Given the description of an element on the screen output the (x, y) to click on. 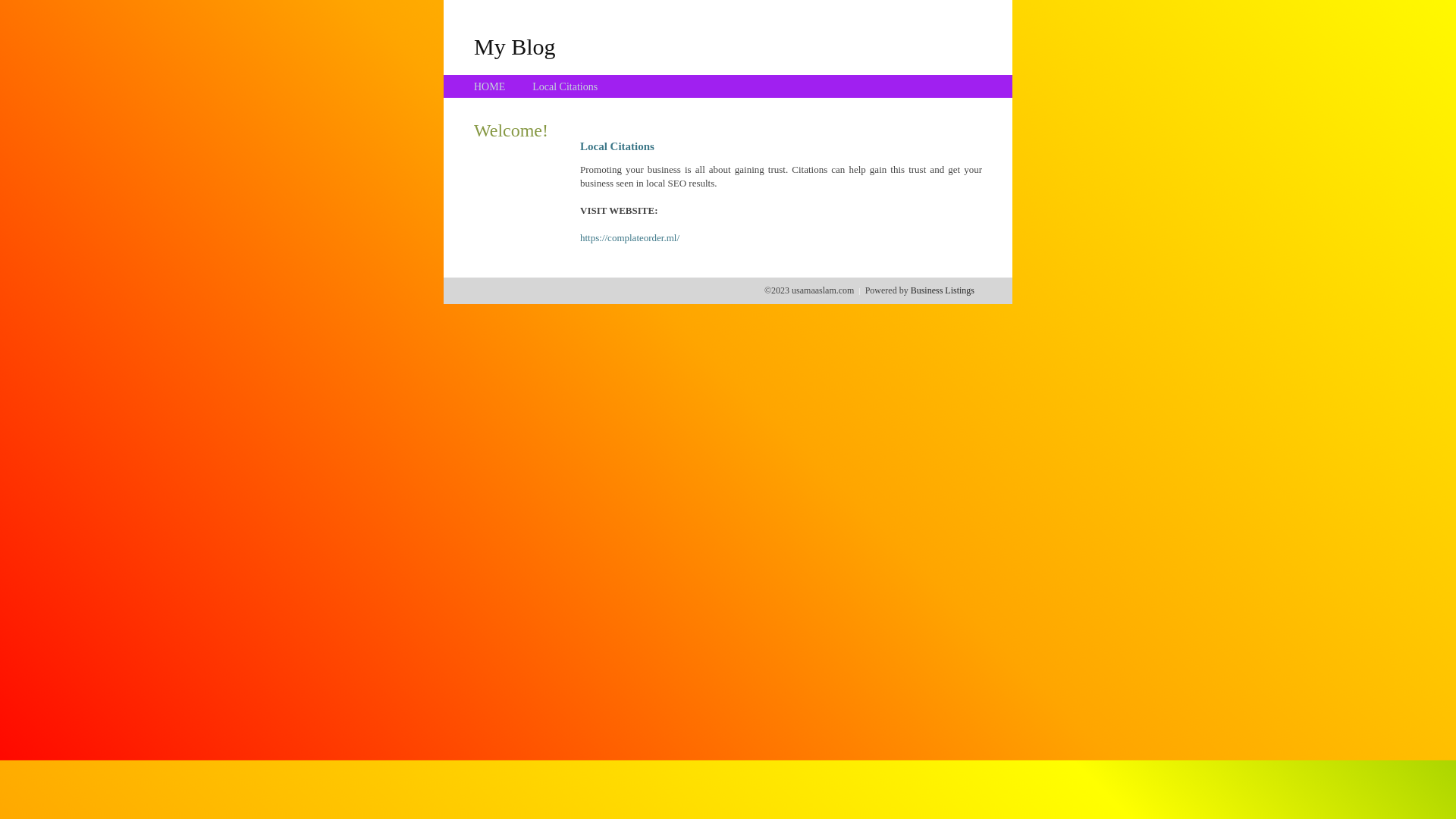
https://complateorder.ml/ Element type: text (629, 237)
HOME Element type: text (489, 86)
My Blog Element type: text (514, 46)
Business Listings Element type: text (942, 290)
Local Citations Element type: text (564, 86)
